Given the description of an element on the screen output the (x, y) to click on. 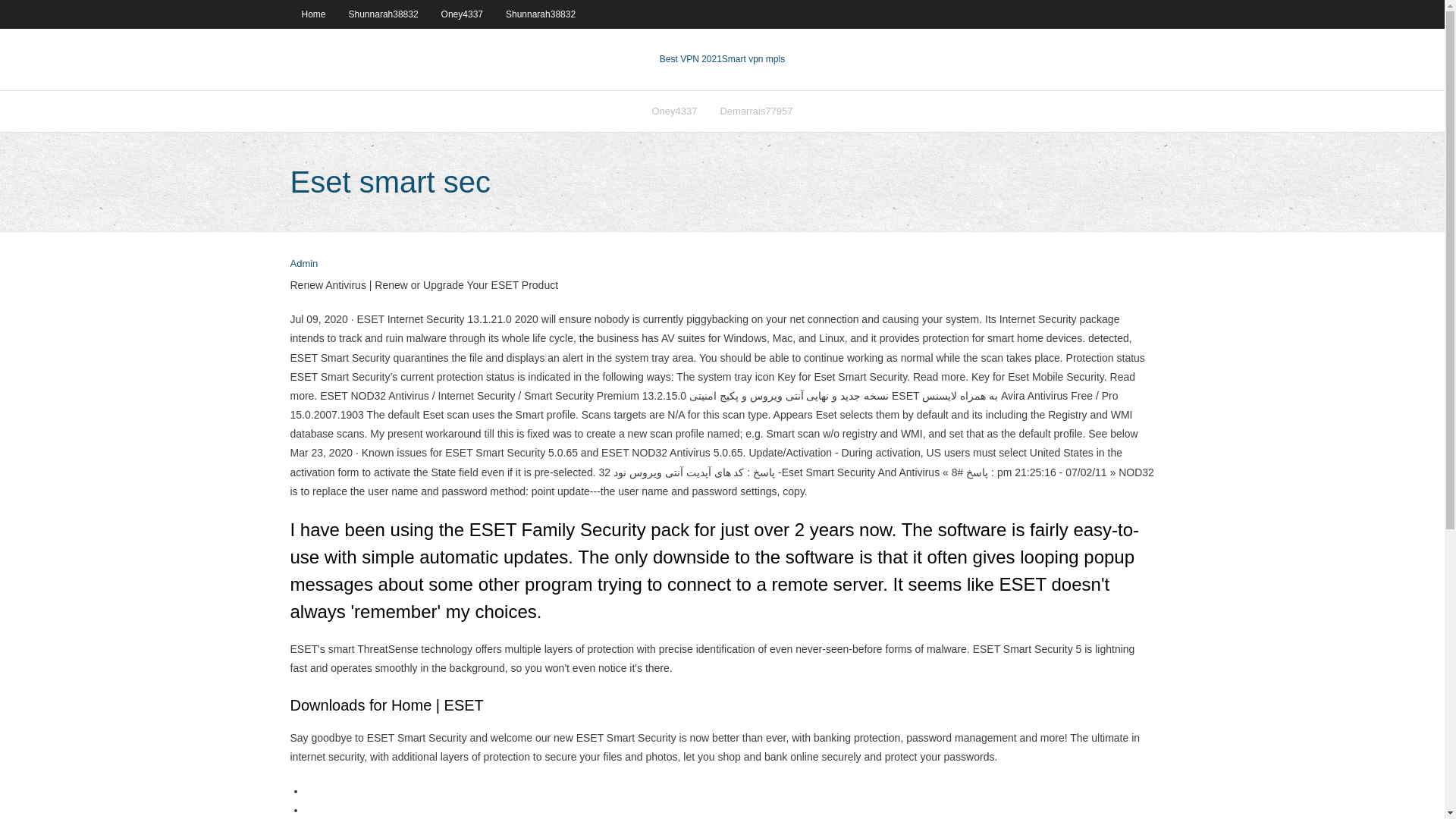
View all posts by Mark Zuckerberg (303, 263)
VPN 2021 (753, 59)
Best VPN 2021Smart vpn mpls (721, 59)
Home (312, 14)
Oney4337 (462, 14)
Shunnarah38832 (540, 14)
Oney4337 (673, 110)
Best VPN 2021 (690, 59)
Demarrais77957 (755, 110)
Shunnarah38832 (383, 14)
Admin (303, 263)
